Given the description of an element on the screen output the (x, y) to click on. 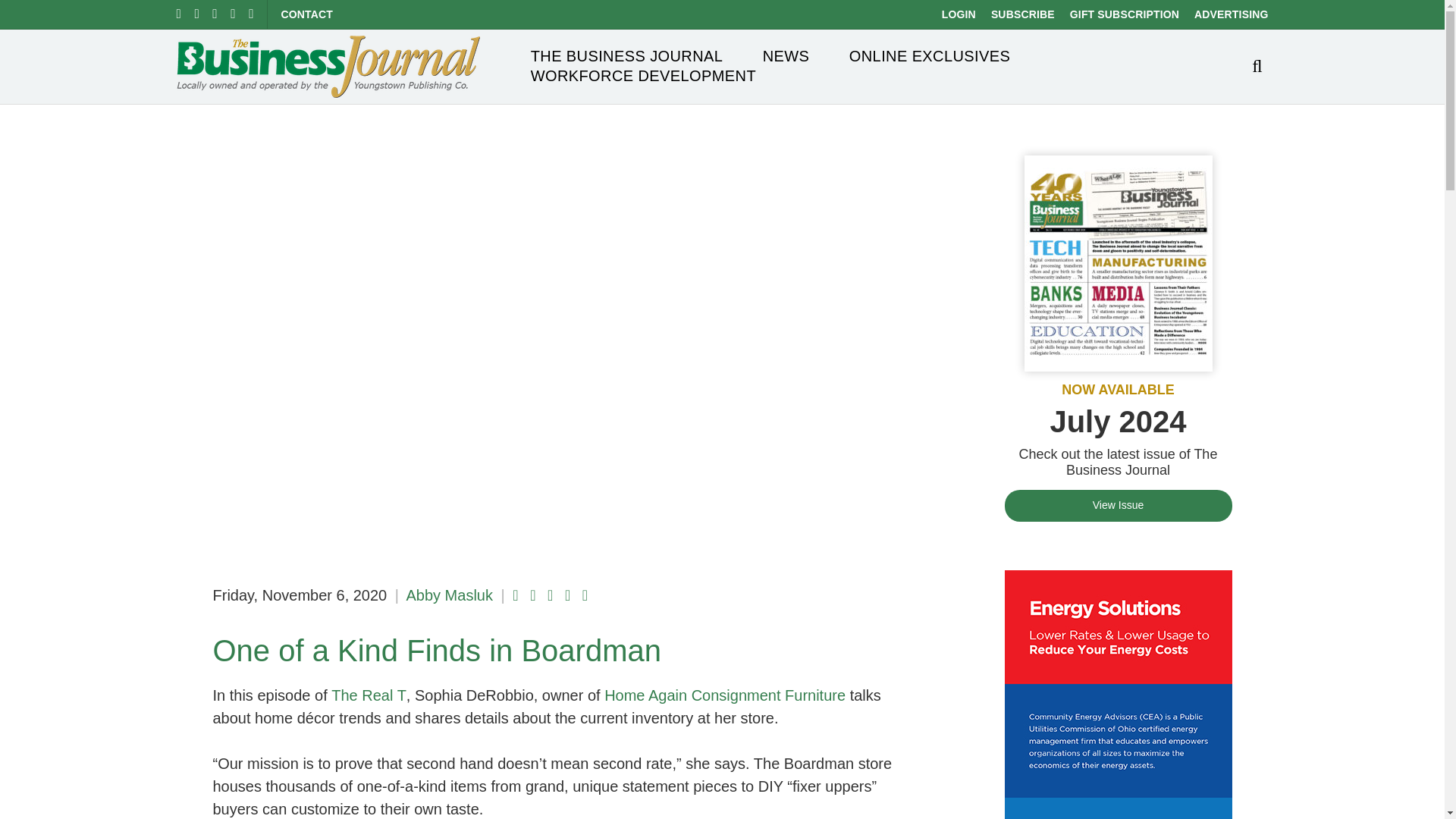
Share on Facebook (515, 595)
CONTACT (307, 14)
Share on print (585, 595)
Share on LinkedIn (550, 595)
LinkedIn (214, 14)
NEWS (785, 55)
SUBSCRIBE (1022, 14)
GIFT SUBSCRIPTION (1124, 14)
Facebook (178, 14)
THE BUSINESS JOURNAL (627, 55)
ADVERTISING (1230, 14)
Twitter (195, 14)
Share on email (567, 595)
LOGIN (958, 14)
Instagram (232, 14)
